Given the description of an element on the screen output the (x, y) to click on. 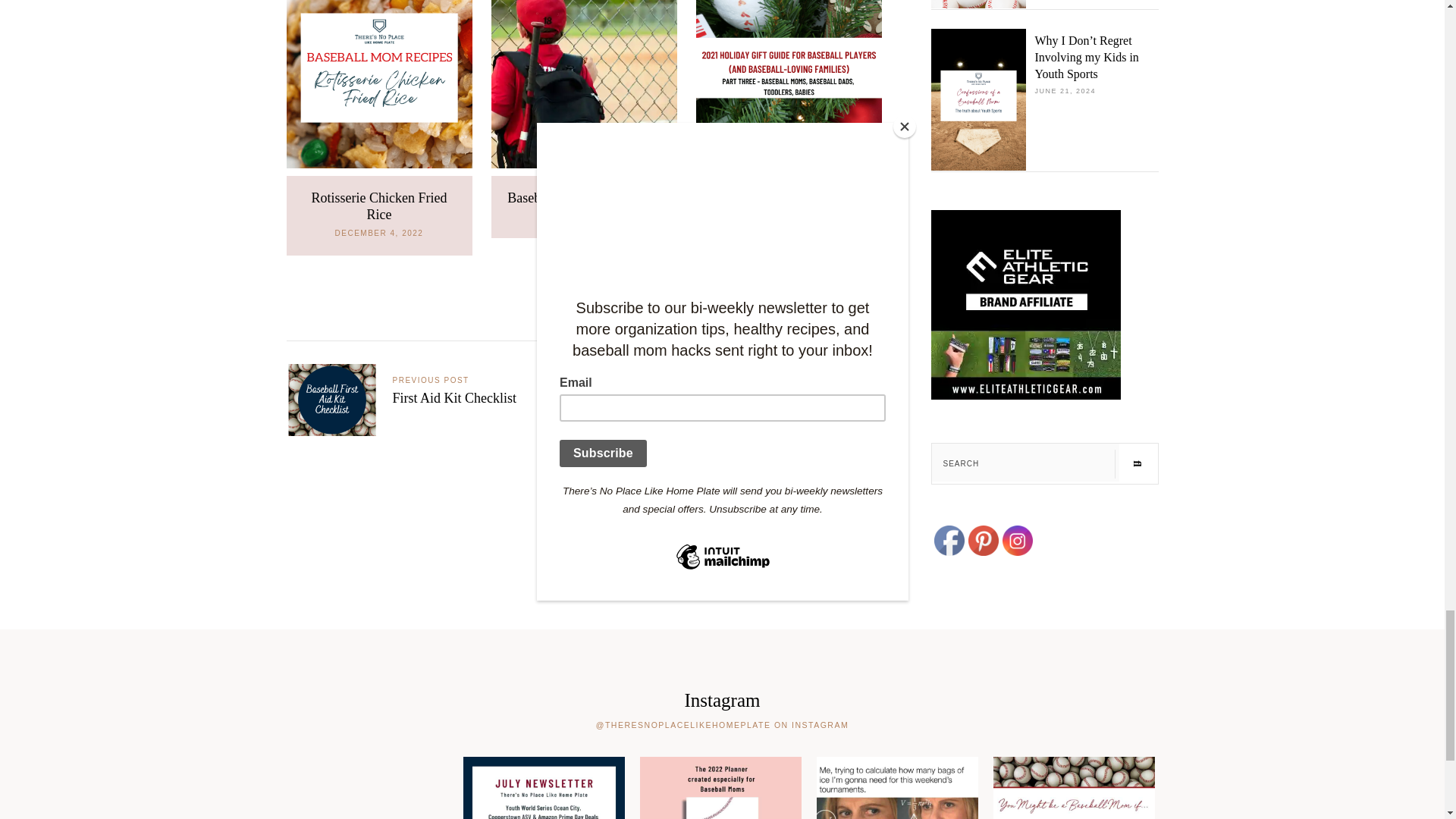
Pinterest (982, 540)
